Given the description of an element on the screen output the (x, y) to click on. 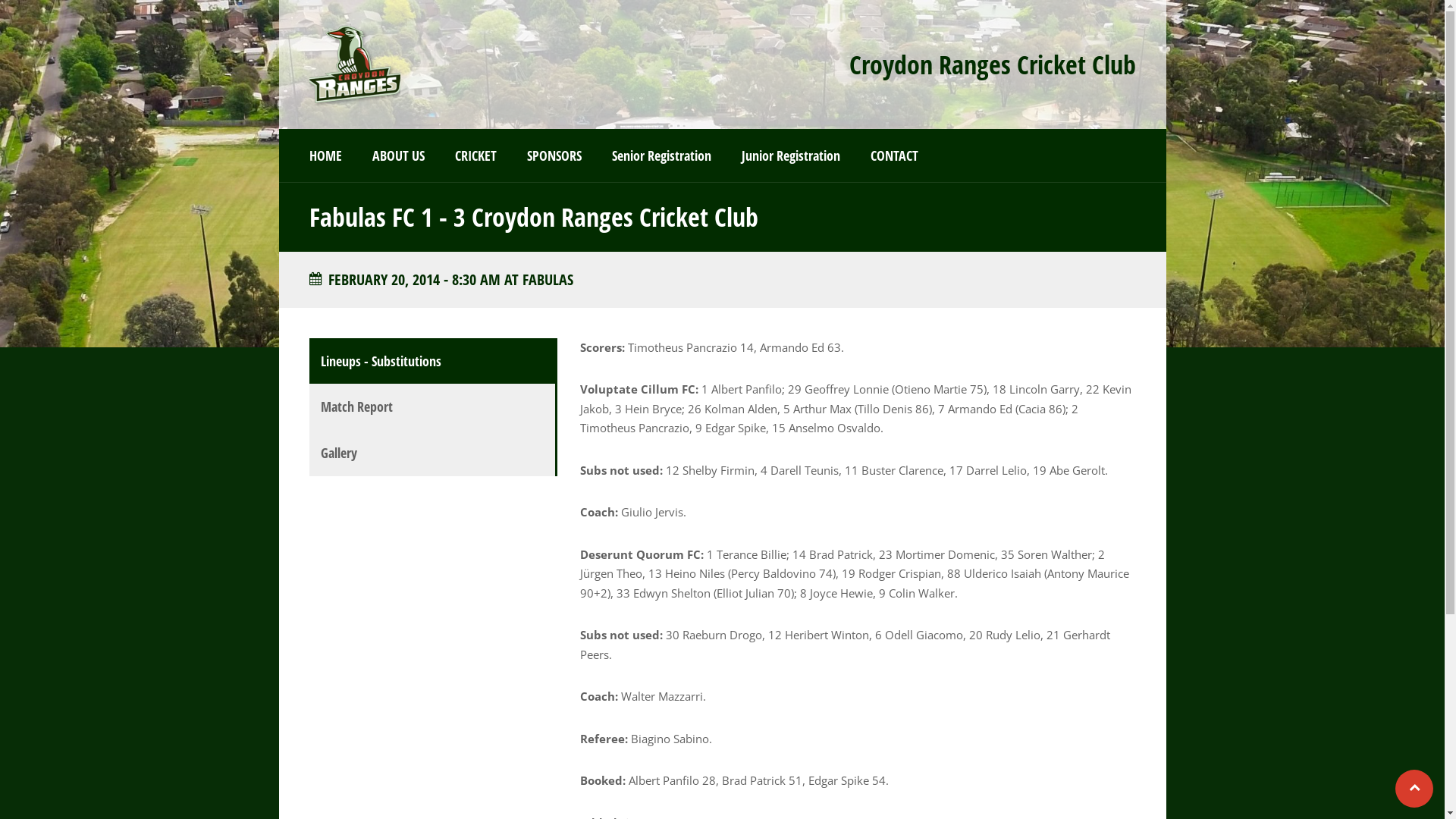
HOME Element type: text (325, 155)
SPONSORS Element type: text (553, 155)
Senior Registration Element type: text (660, 155)
Junior Registration Element type: text (790, 155)
CONTACT Element type: text (894, 155)
ABOUT US Element type: text (397, 155)
CRICKET Element type: text (475, 155)
